Given the description of an element on the screen output the (x, y) to click on. 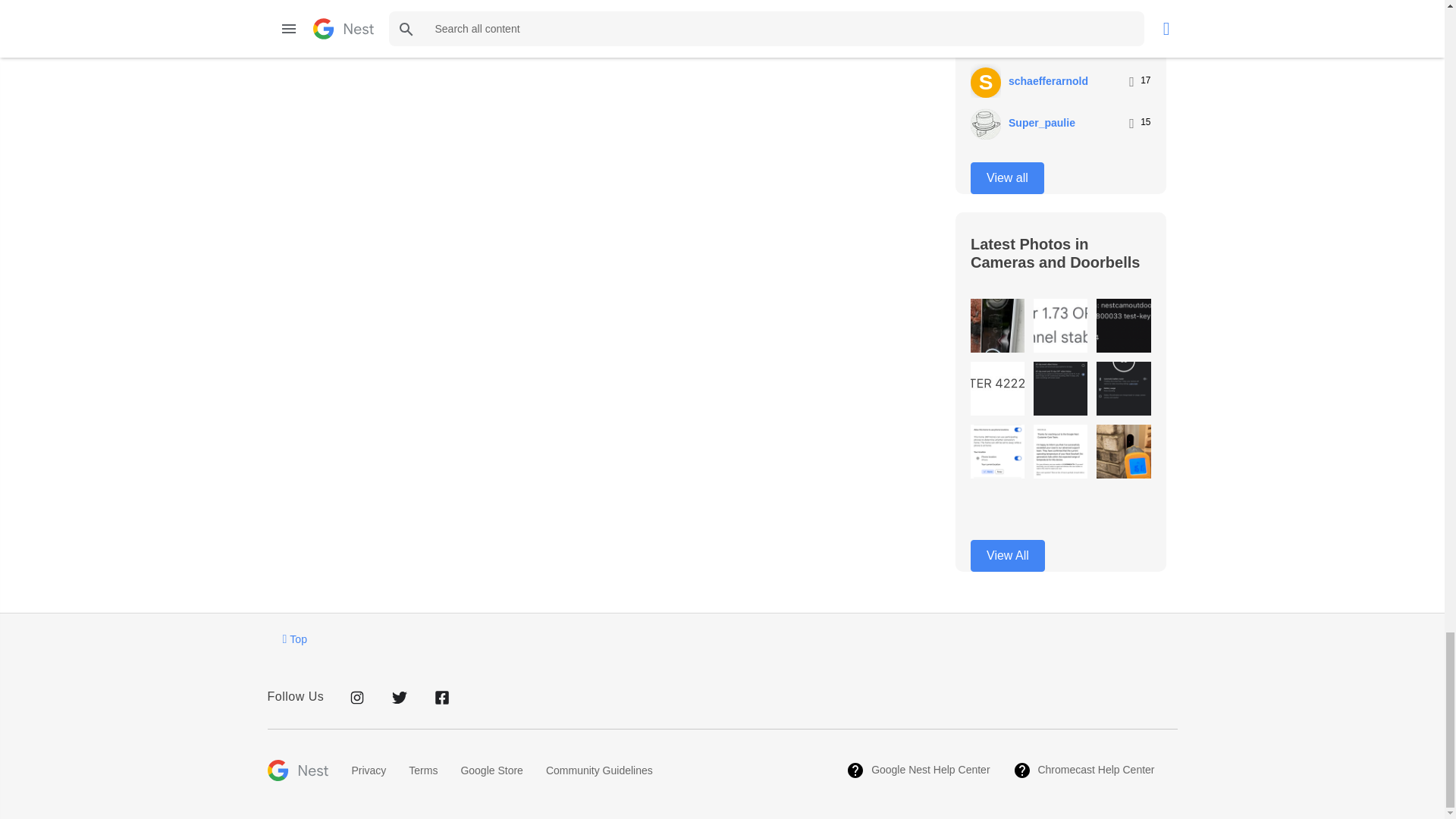
Top (293, 638)
Top (293, 638)
